Given the description of an element on the screen output the (x, y) to click on. 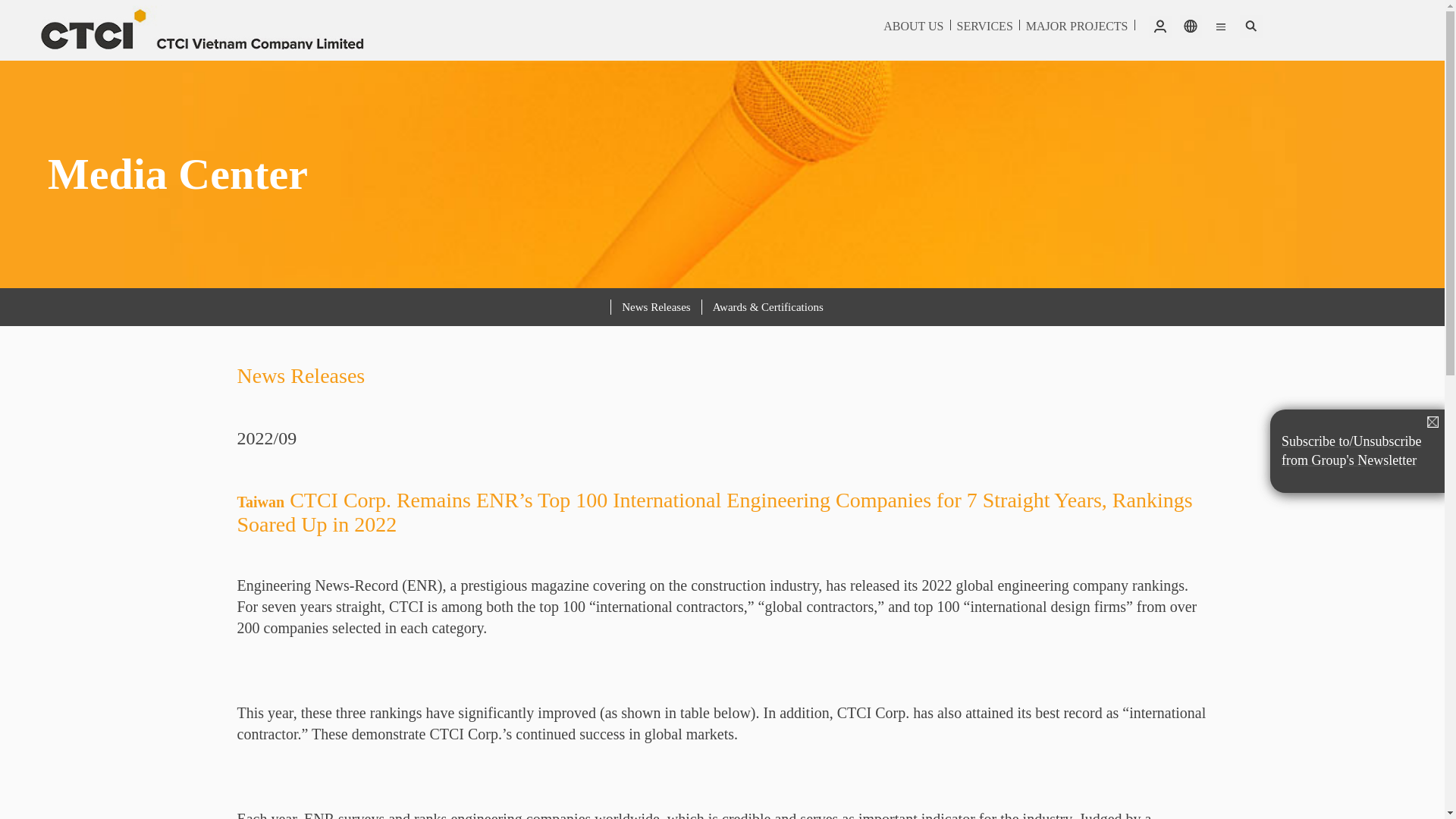
SERVICES (984, 25)
ABOUT US (913, 25)
MAJOR PROJECTS (1077, 25)
